Given the description of an element on the screen output the (x, y) to click on. 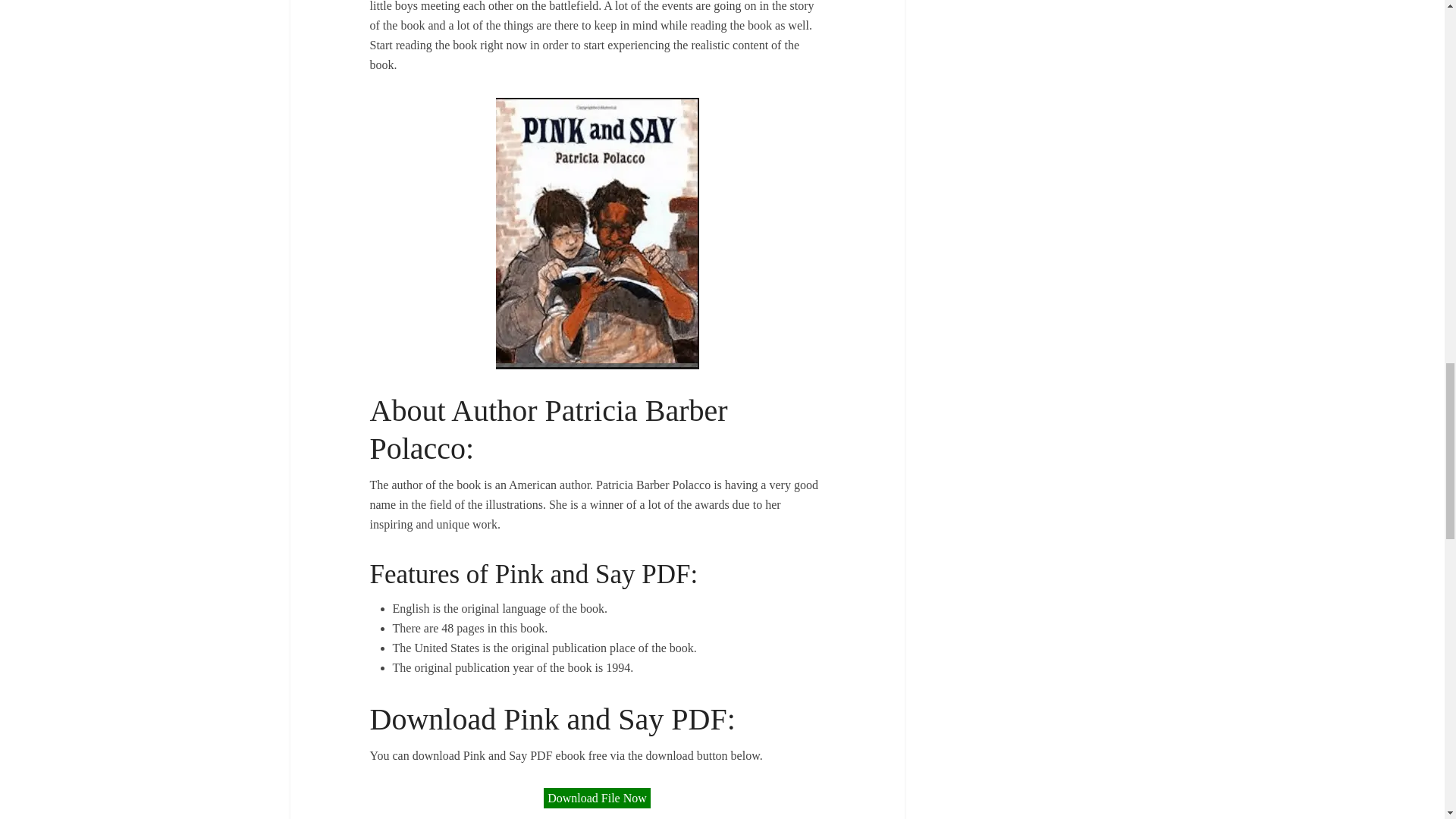
Download File Now (596, 797)
